Given the description of an element on the screen output the (x, y) to click on. 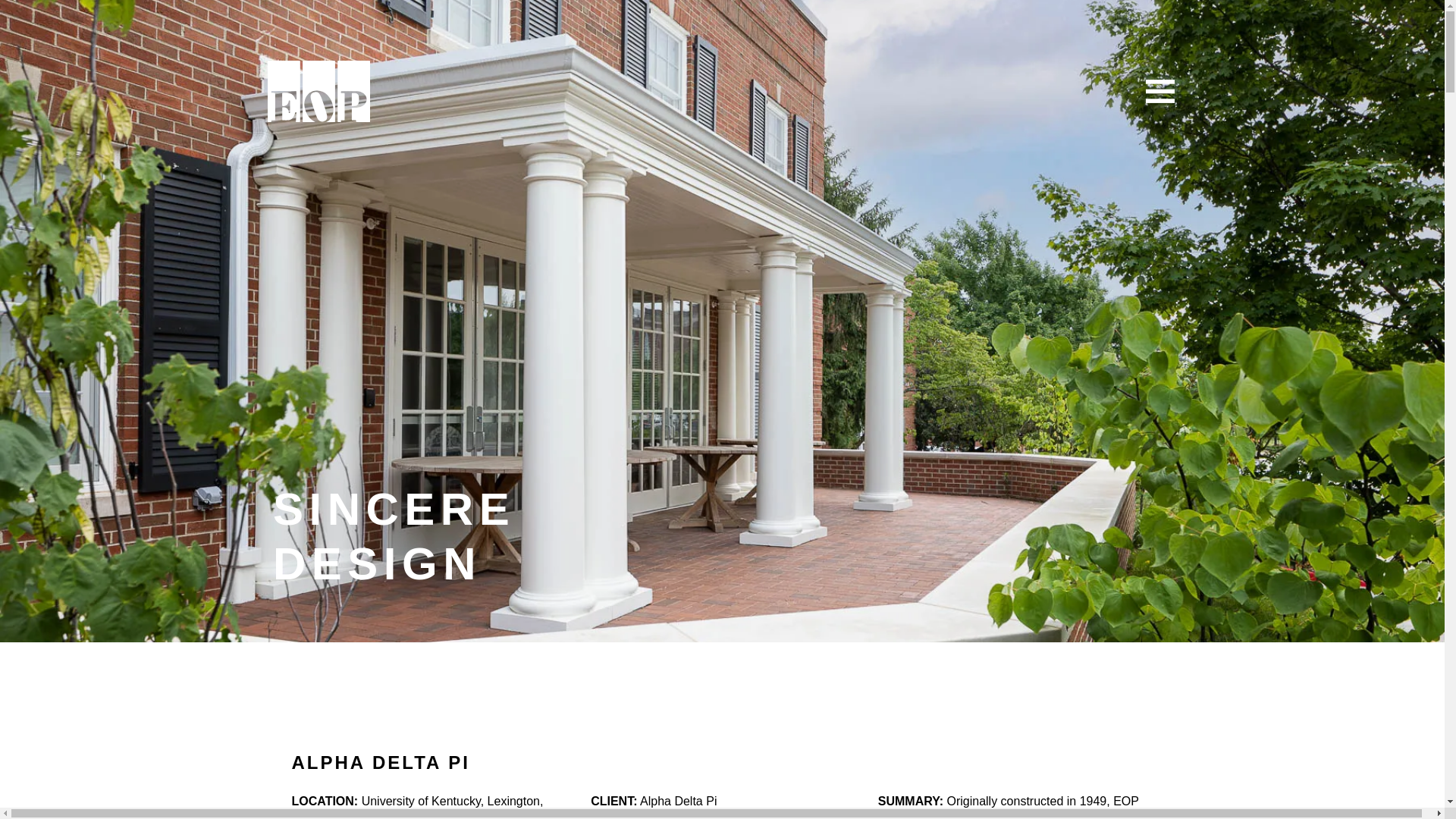
7 (317, 91)
7 (317, 91)
Toggle navigation (1158, 91)
